Given the description of an element on the screen output the (x, y) to click on. 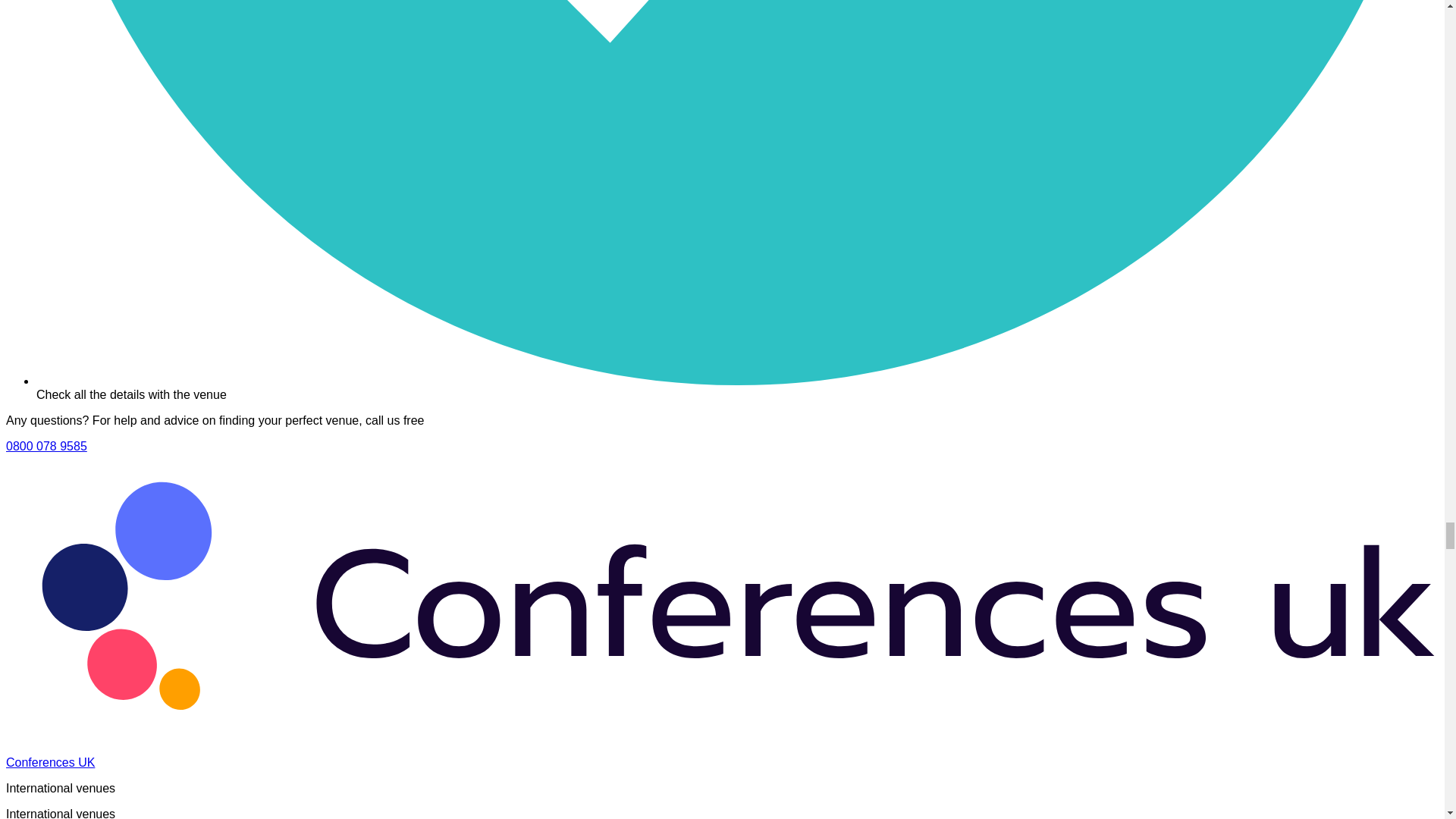
0800 078 9585 (46, 445)
